Given the description of an element on the screen output the (x, y) to click on. 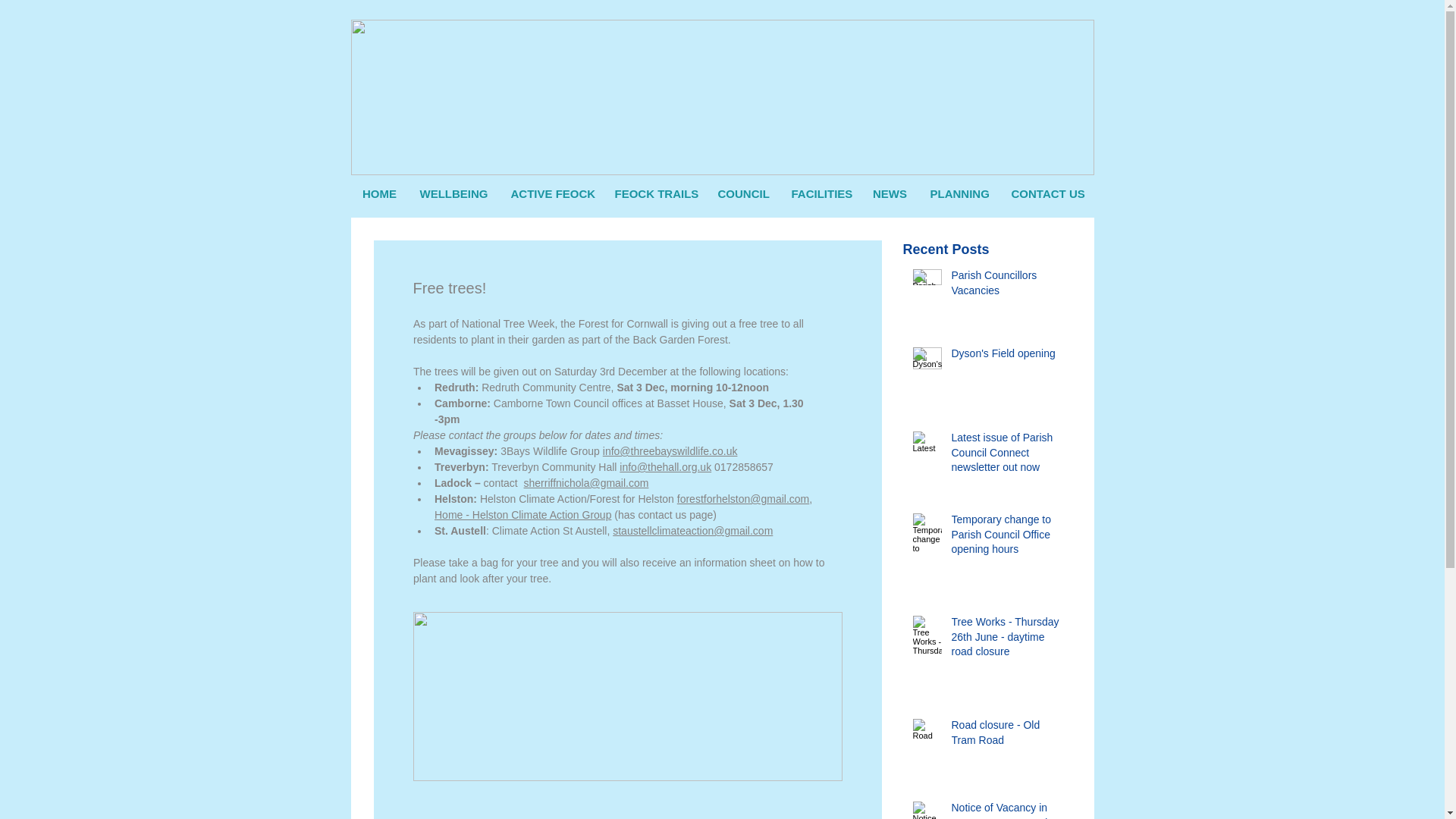
HOME (378, 194)
COUNCIL (743, 194)
WELLBEING (453, 194)
CONTACT US (1045, 194)
NEWS (889, 194)
FEOCK TRAILS (655, 194)
FACILITIES (819, 194)
ACTIVE FEOCK (550, 194)
PLANNING (959, 194)
